Given the description of an element on the screen output the (x, y) to click on. 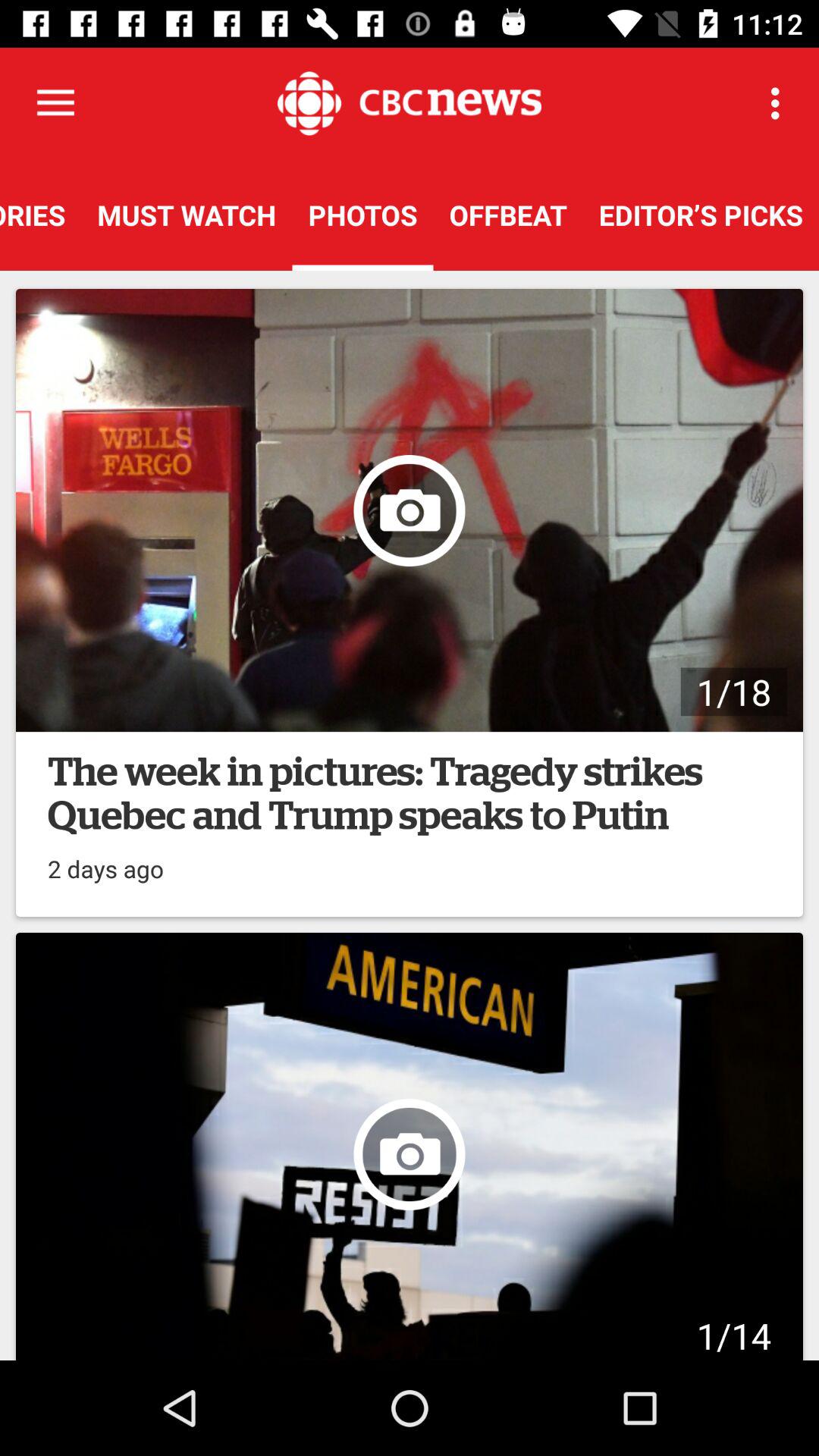
turn on the icon to the right of top stories (186, 214)
